Given the description of an element on the screen output the (x, y) to click on. 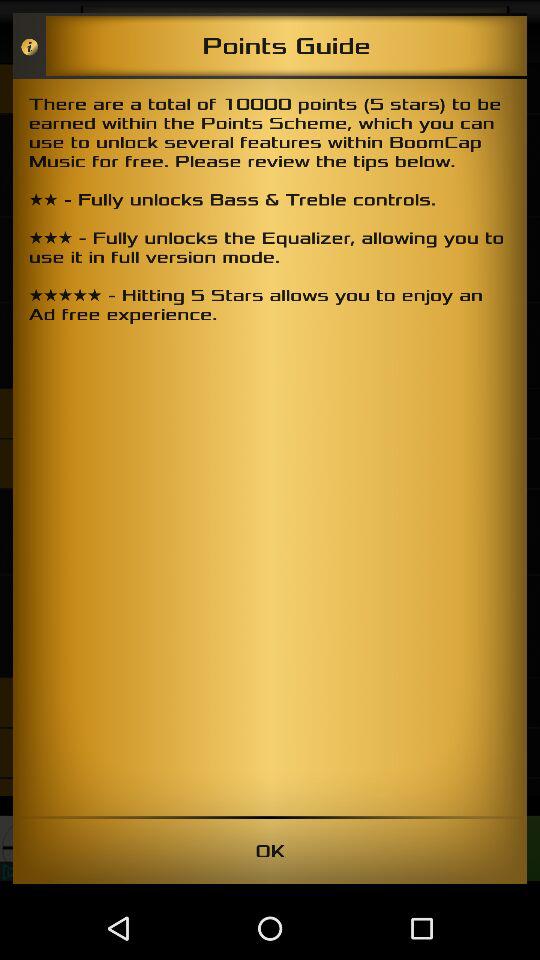
swipe to the ok icon (269, 850)
